Given the description of an element on the screen output the (x, y) to click on. 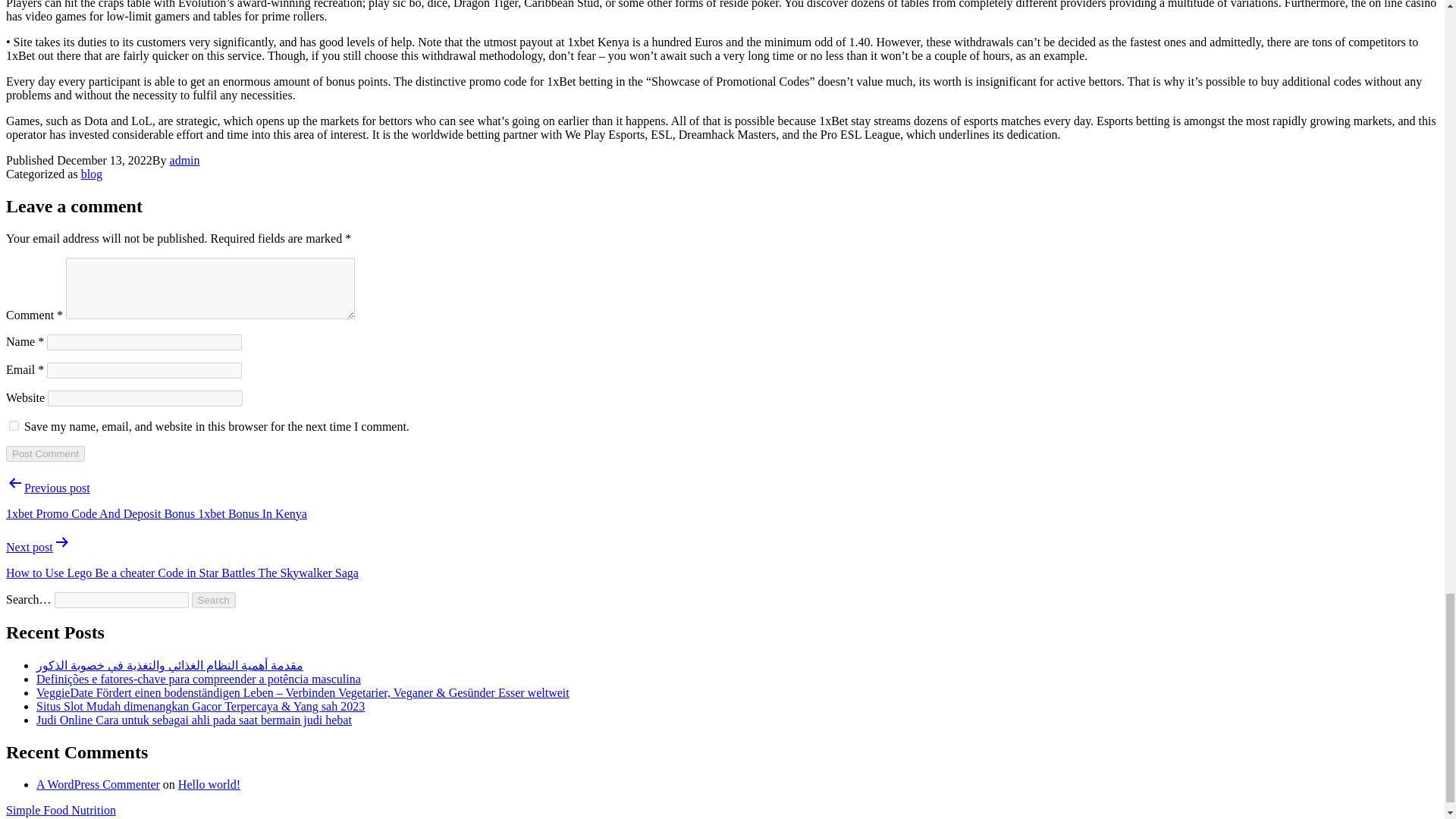
Search (213, 600)
Hello world! (208, 784)
Simple Food Nutrition (60, 809)
Post Comment (44, 453)
yes (13, 425)
Search (213, 600)
Search (213, 600)
A WordPress Commenter (98, 784)
admin (185, 160)
Post Comment (44, 453)
blog (91, 173)
